Given the description of an element on the screen output the (x, y) to click on. 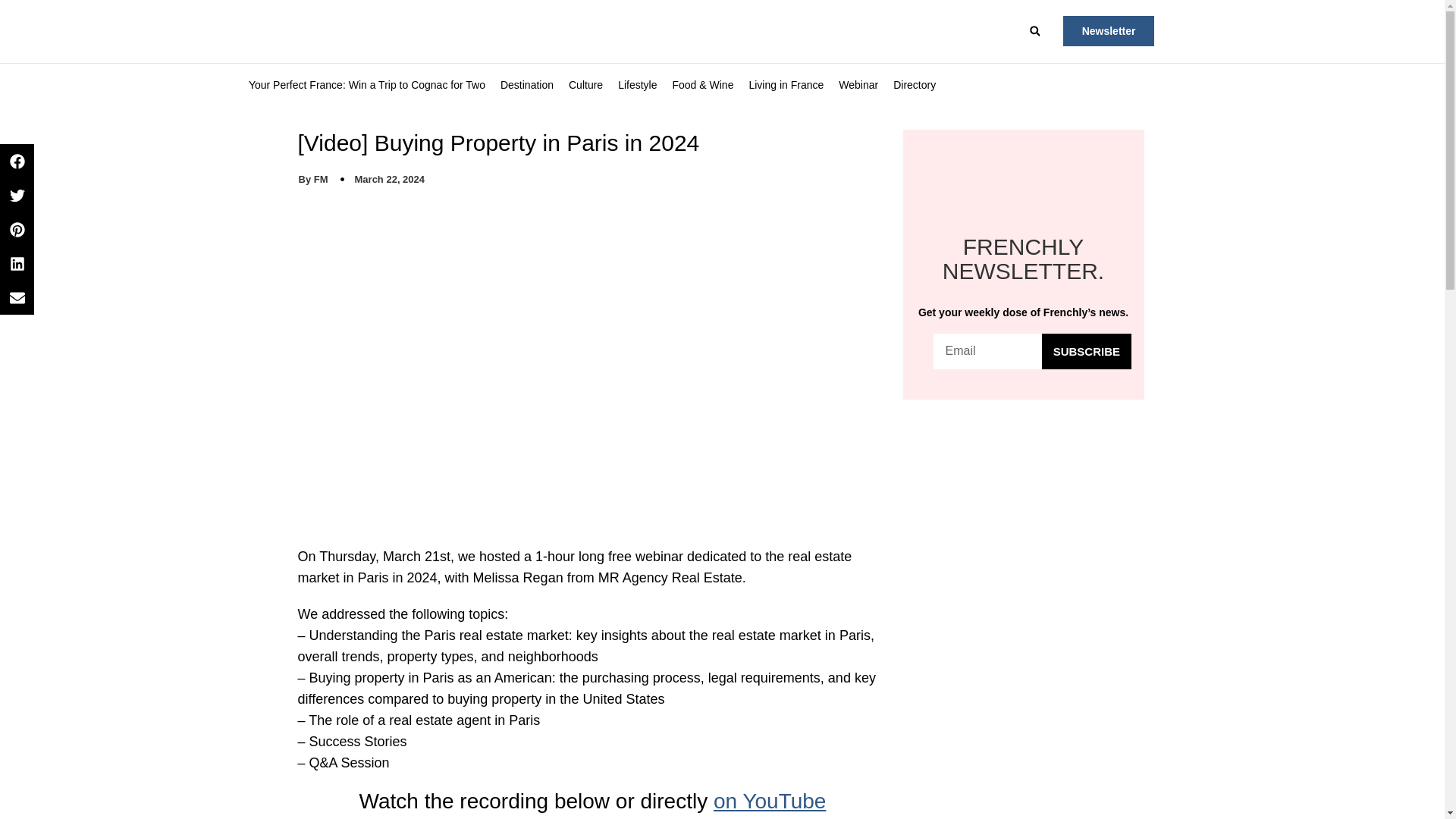
Newsletter (1108, 30)
Your Perfect France: Win a Trip to Cognac for Two (367, 85)
Living in France (786, 85)
Destination (526, 85)
Webinar (858, 85)
Directory (914, 85)
Culture (585, 85)
Lifestyle (636, 85)
